Given the description of an element on the screen output the (x, y) to click on. 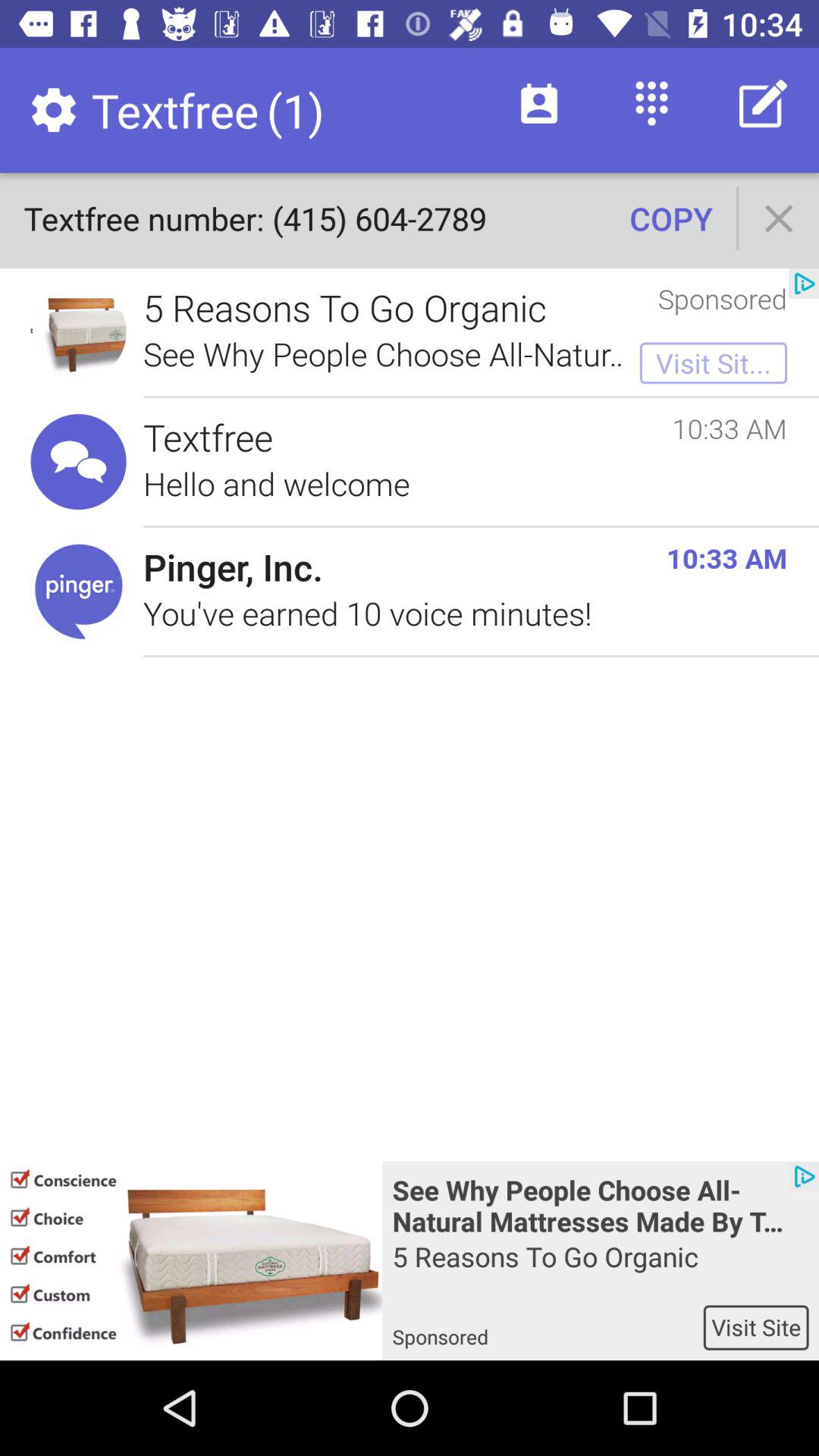
jump to the copy (670, 218)
